Given the description of an element on the screen output the (x, y) to click on. 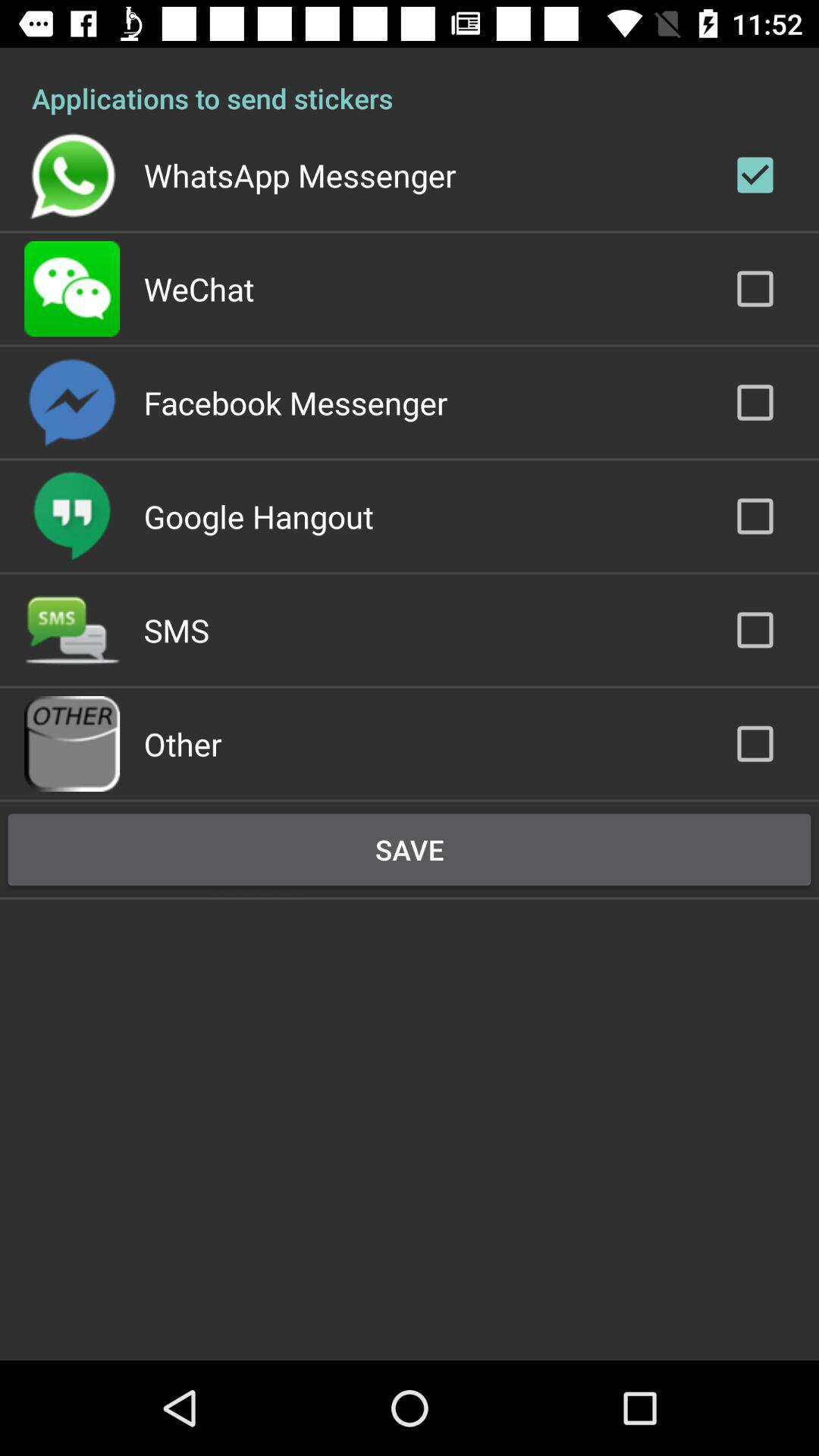
tap the item above the sms item (258, 516)
